Given the description of an element on the screen output the (x, y) to click on. 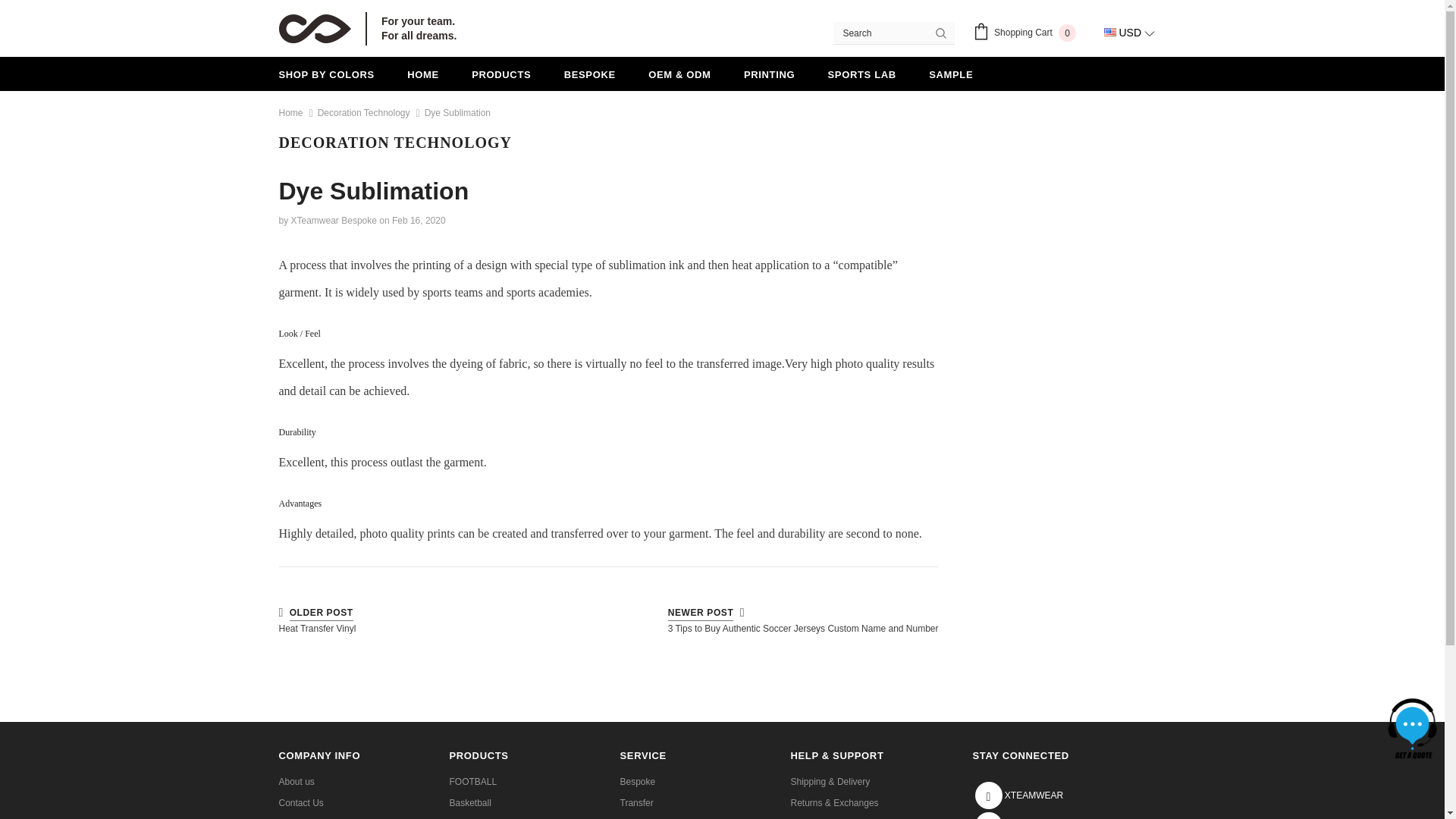
Shopping Cart 0 (368, 28)
USD (1027, 33)
